Given the description of an element on the screen output the (x, y) to click on. 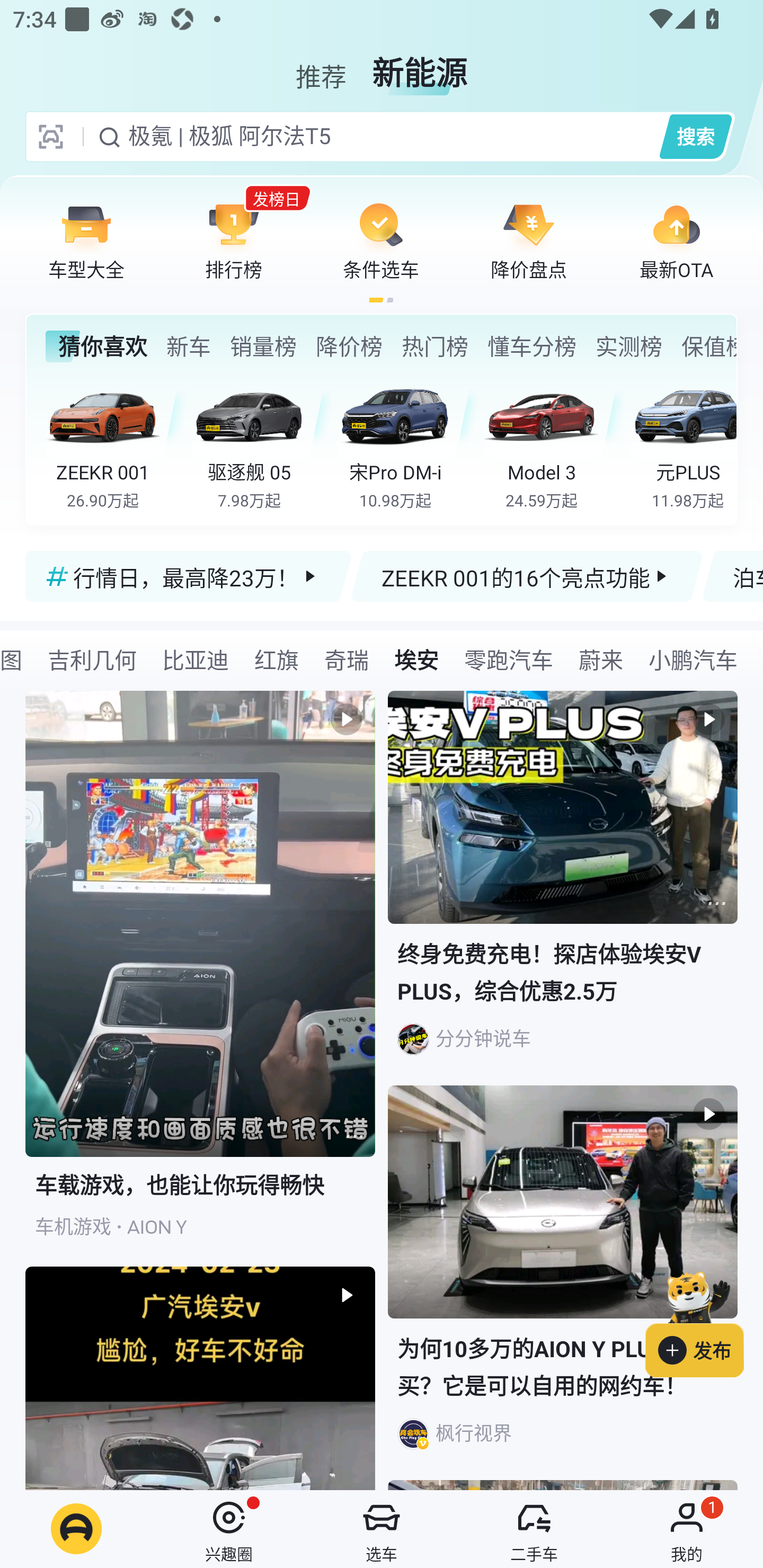
推荐 (321, 65)
新能源 (419, 65)
搜索 (695, 136)
车型大全 (86, 240)
发榜日 排行榜 (233, 240)
条件选车 (380, 240)
降价盘点 (528, 240)
最新OTA (676, 240)
猜你喜欢 (96, 346)
新车 (188, 346)
销量榜 (262, 346)
降价榜 (348, 346)
热门榜 (434, 346)
懂车分榜 (531, 346)
实测榜 (628, 346)
保值榜 (708, 346)
ZEEKR 001 26.90万起 (115, 442)
驱逐舰 05 7.98万起 (261, 442)
宋Pro DM-i 10.98万起 (407, 442)
Model 3 24.59万起 (554, 442)
元PLUS 11.98万起 (683, 442)
行情日，最高降23万！ (188, 576)
ZEEKR 001的16个亮点功能 (526, 576)
吉利几何 (92, 659)
比亚迪 (195, 659)
红旗 (276, 659)
奇瑞 (346, 659)
埃安 (416, 659)
零跑汽车 (508, 659)
蔚来 (600, 659)
小鹏汽车 (692, 659)
  车载游戏，也能让你玩得畅快 车机游戏 AION Y (200, 978)
  终身免费充电！探店体验埃安V PLUS，综合优惠2.5万 分分钟说车 (562, 888)
 (716, 903)
  为何10多万的AION Y PLUS值得买？它是可以自用的网约车！ 枫行视界 (562, 1282)
 (354, 1136)
AION Y (156, 1226)
发布 (704, 1320)
 兴趣圈 (228, 1528)
 选车 (381, 1528)
 二手车 (533, 1528)
 我的 (686, 1528)
